Given the description of an element on the screen output the (x, y) to click on. 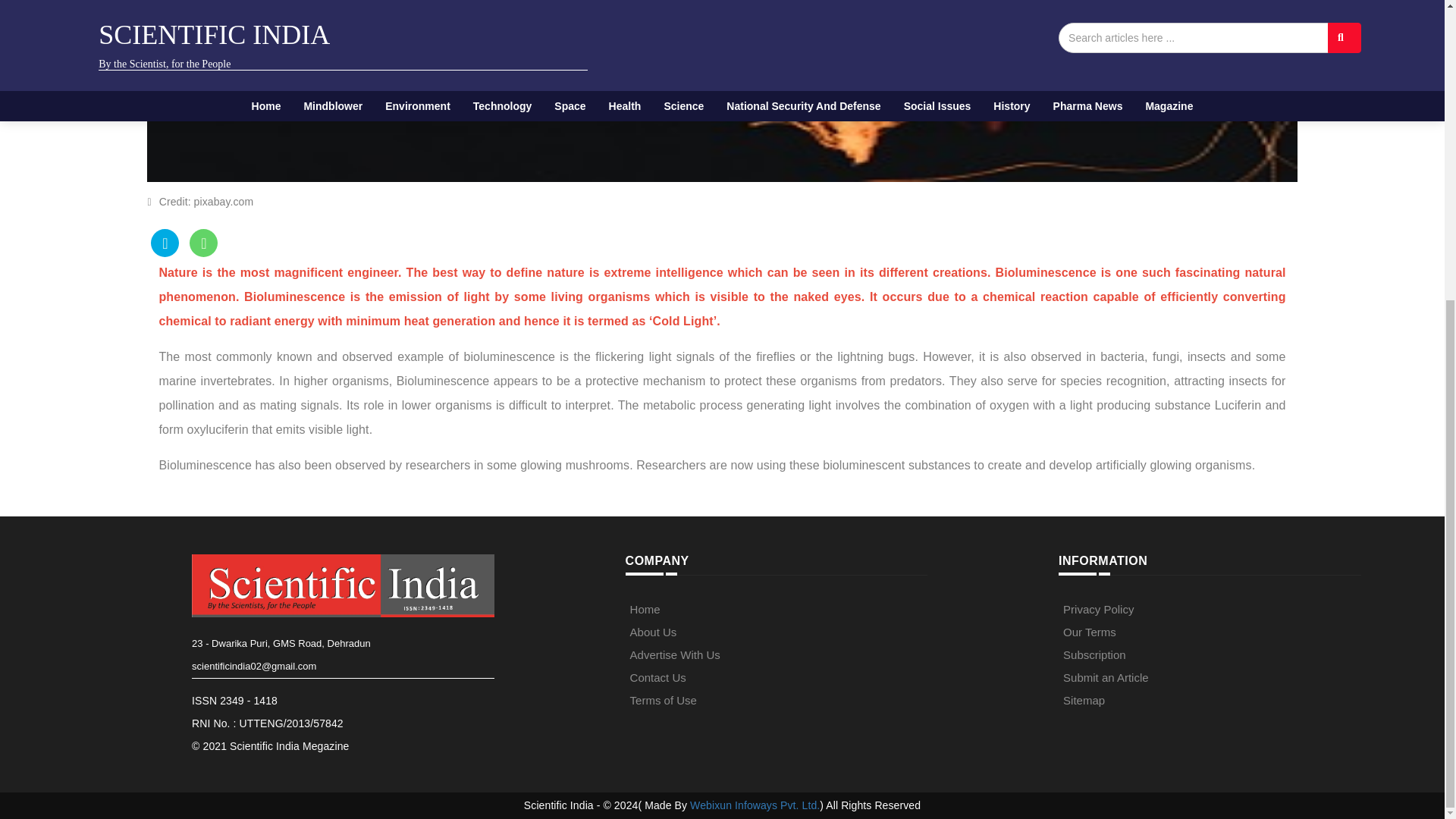
Advertise With Us (675, 654)
Home (645, 608)
Our Terms (1089, 631)
Subscription (1093, 654)
Submit an Article (1105, 676)
Terms of Use (663, 699)
Privacy Policy (1098, 608)
Share on whatsapp (202, 243)
About Us (653, 631)
Contact Us (657, 676)
